Given the description of an element on the screen output the (x, y) to click on. 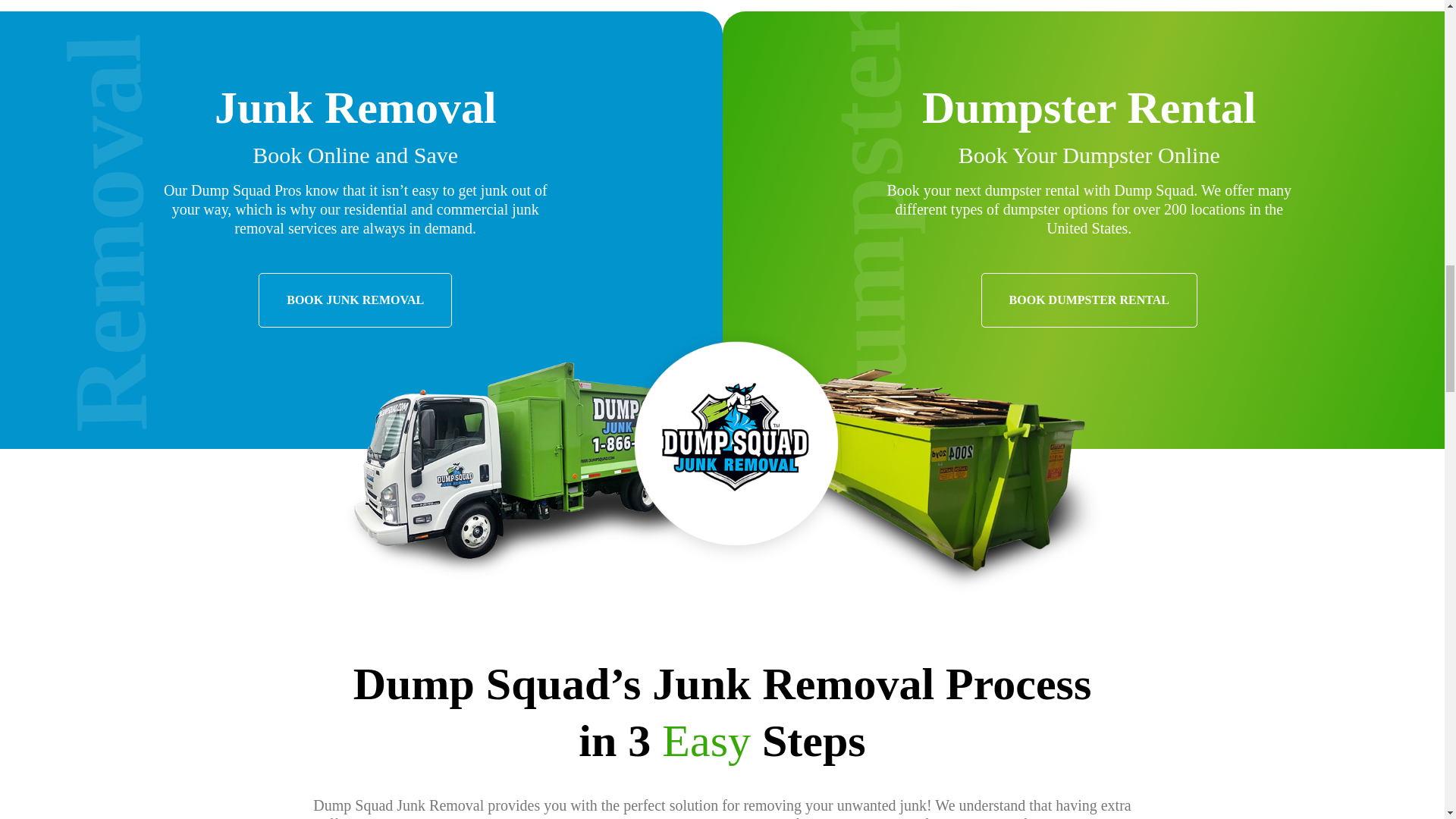
BOOK JUNK REMOVAL (355, 299)
BOOK DUMPSTER RENTAL (1088, 299)
